Given the description of an element on the screen output the (x, y) to click on. 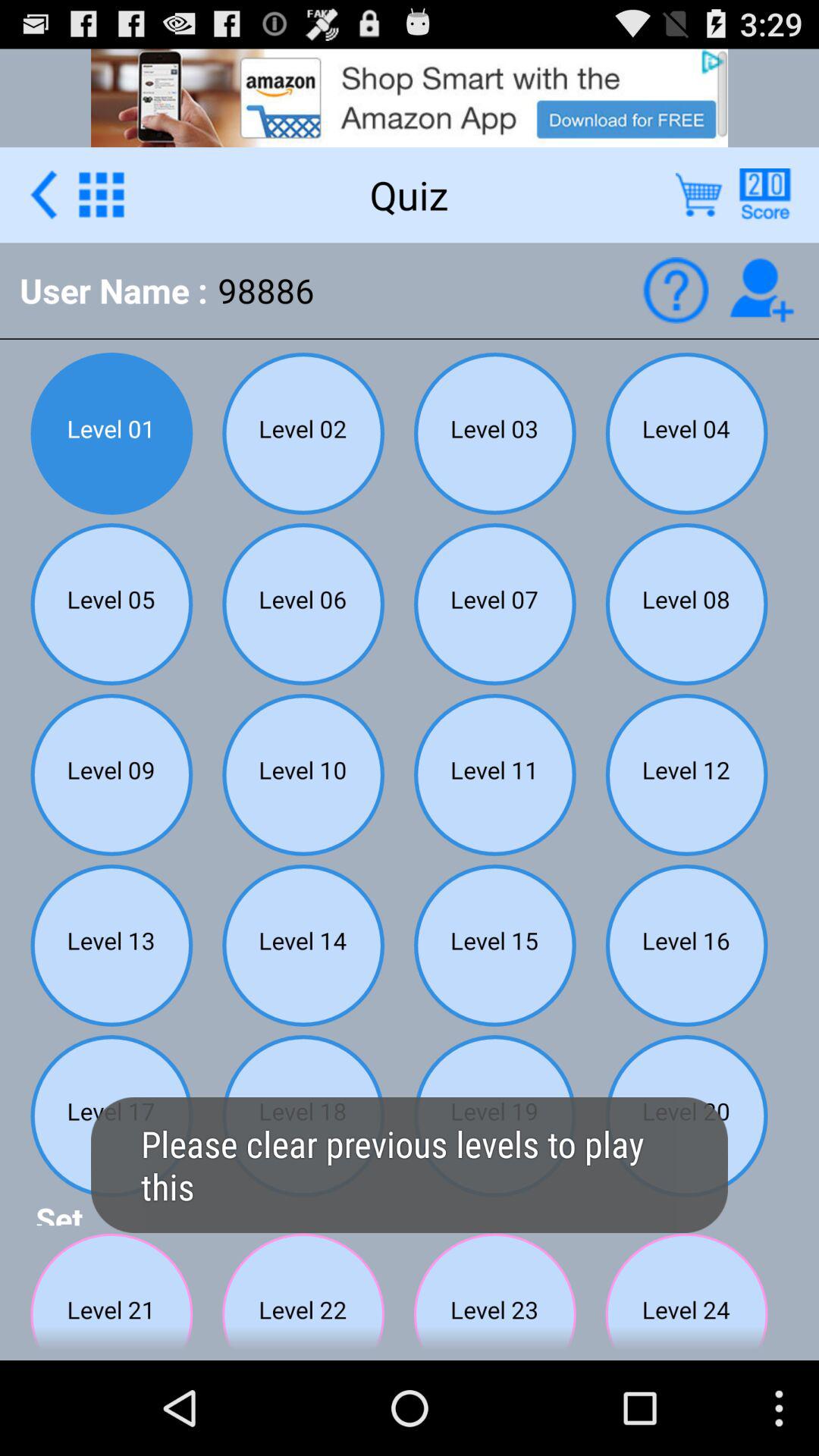
click to view amazon app (409, 97)
